Given the description of an element on the screen output the (x, y) to click on. 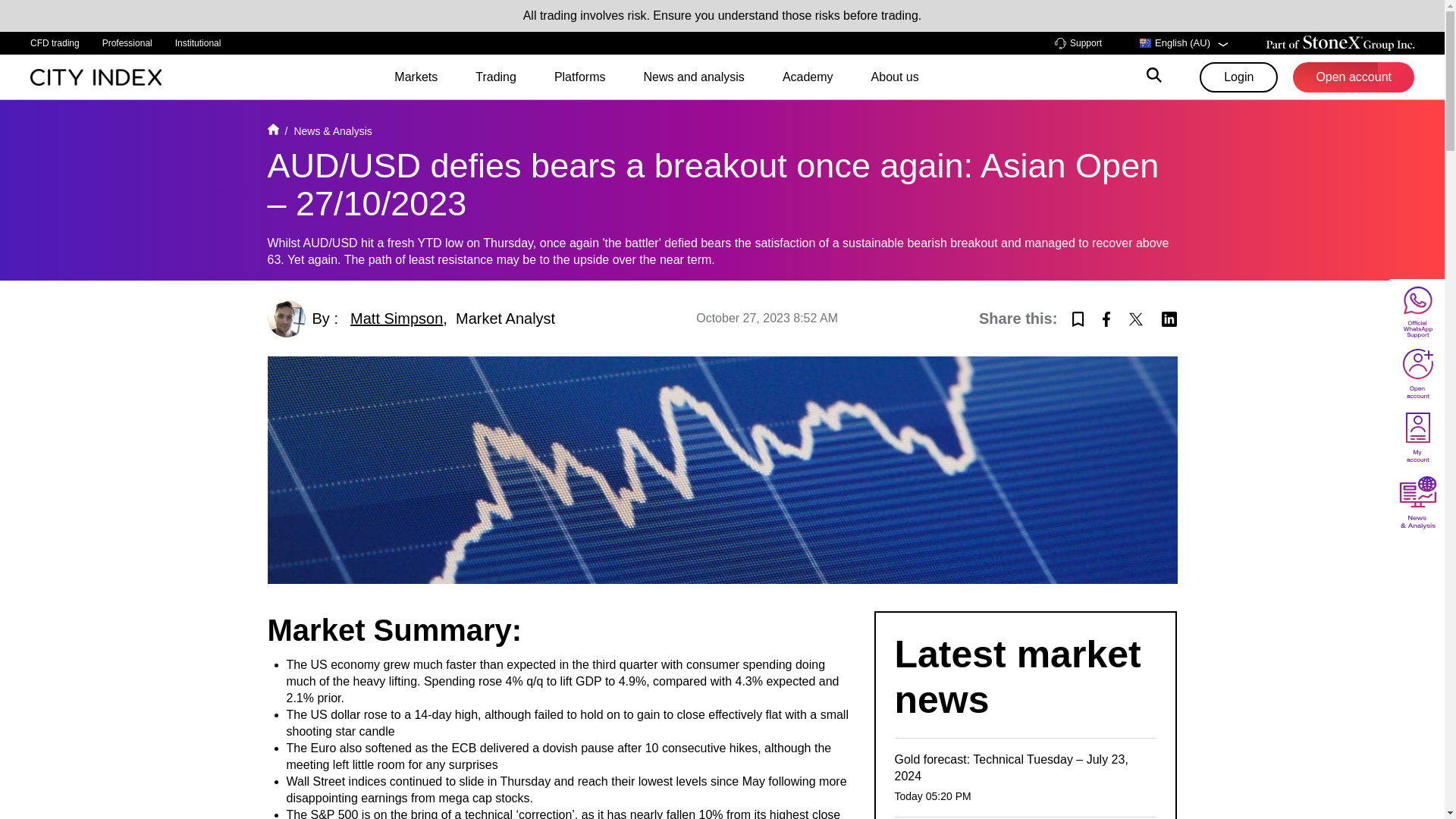
Share to Facebook (1105, 317)
search (1154, 77)
Institutional (197, 42)
News and Analysis (332, 131)
Home (95, 76)
Send via Email (1077, 317)
Matt Simpson (396, 318)
Support (1078, 43)
Professional (126, 42)
Share to X (1135, 317)
CFD trading (55, 42)
Home (272, 131)
Share to LinkedIn (1168, 317)
